Given the description of an element on the screen output the (x, y) to click on. 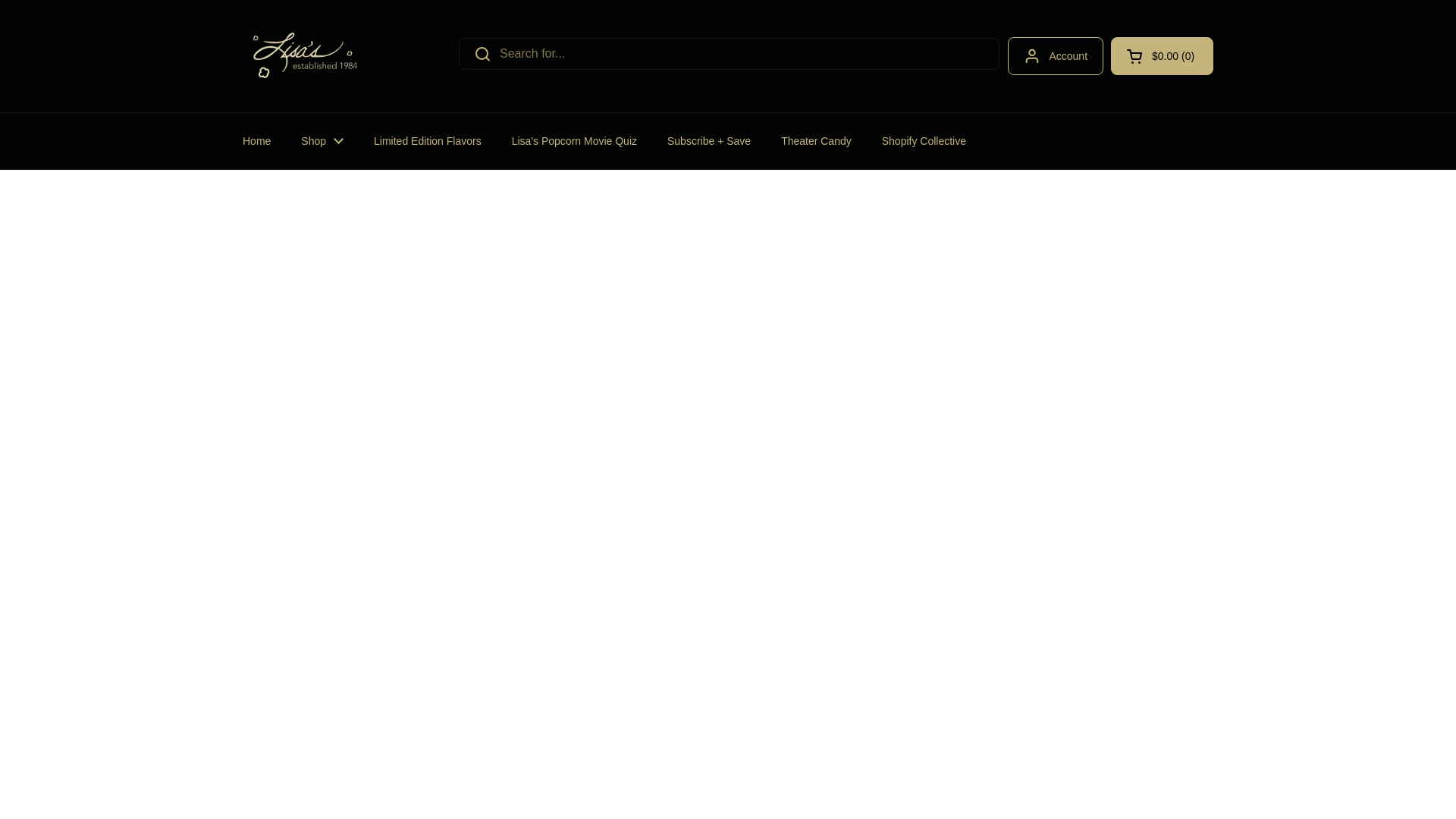
Limited Edition Flavors (427, 141)
Account (1055, 55)
Open cart (1161, 55)
Lisa's Popcorn Movie Quiz (574, 141)
Shop (321, 141)
Shopify Collective (923, 141)
Theater Candy (815, 141)
Home (256, 141)
Lisa's Popcorn (304, 55)
